Given the description of an element on the screen output the (x, y) to click on. 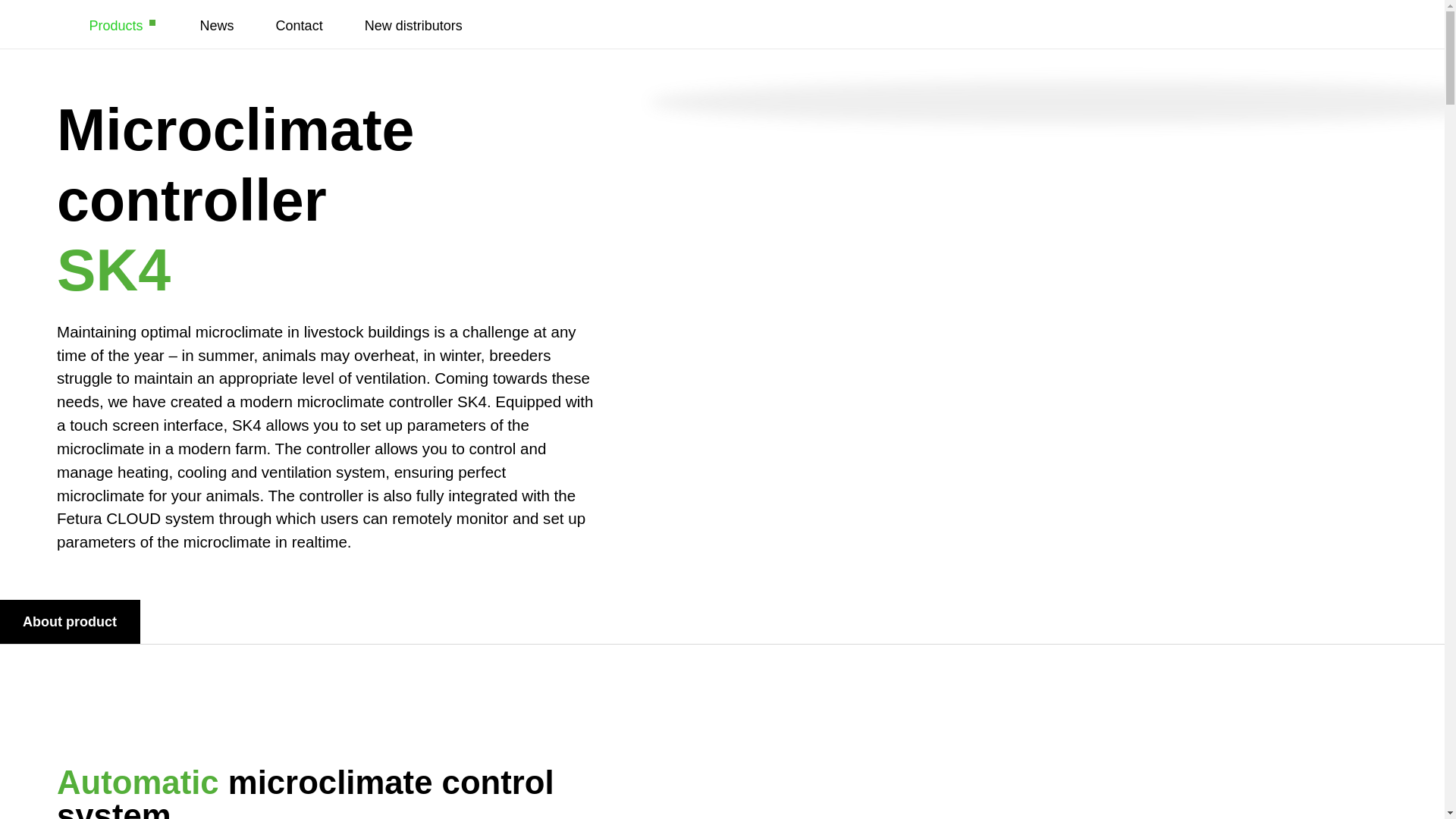
Contact (299, 25)
New distributors (414, 25)
News (217, 25)
Products (123, 25)
